Given the description of an element on the screen output the (x, y) to click on. 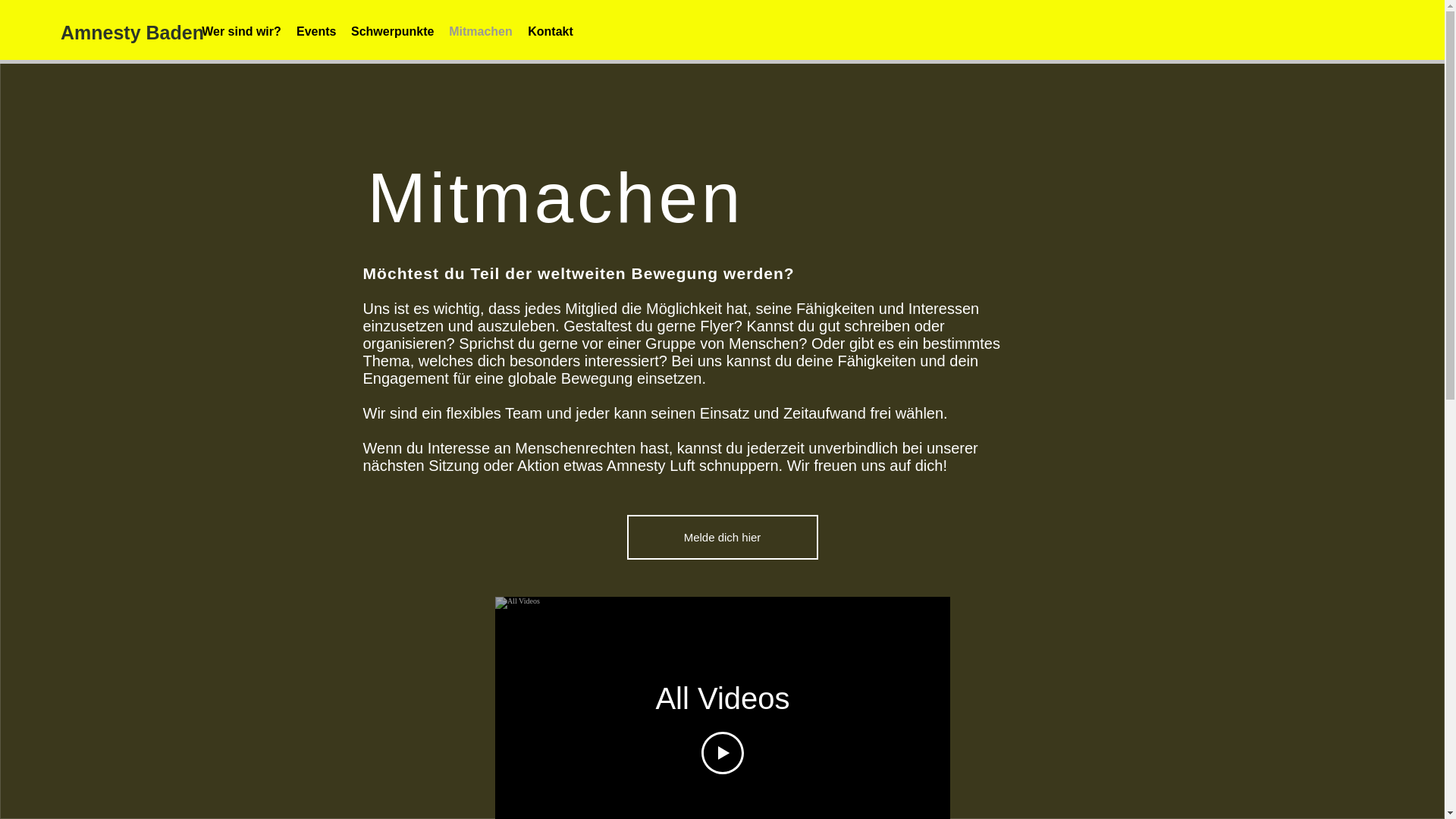
Mitmachen Element type: text (480, 31)
Amnesty Baden Element type: text (131, 32)
Wer sind wir? Element type: text (241, 31)
Melde dich hier Element type: text (721, 536)
Schwerpunkte Element type: text (392, 31)
Kontakt Element type: text (550, 31)
Events Element type: text (315, 31)
